Given the description of an element on the screen output the (x, y) to click on. 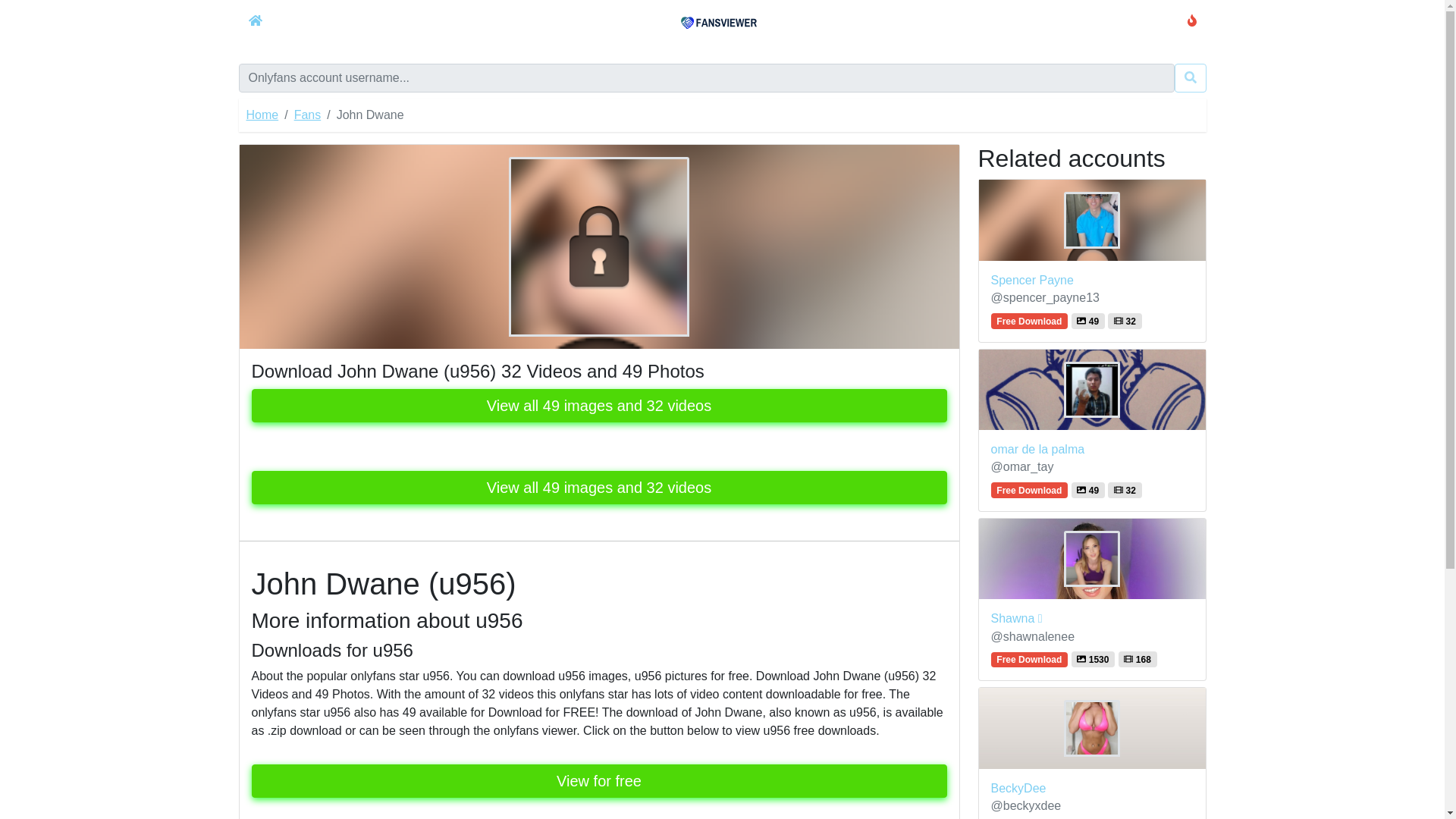
View for free (599, 780)
Fans (307, 114)
Home (262, 114)
View all 49 images and 32 videos (599, 405)
View all 49 images and 32 videos (599, 487)
